Given the description of an element on the screen output the (x, y) to click on. 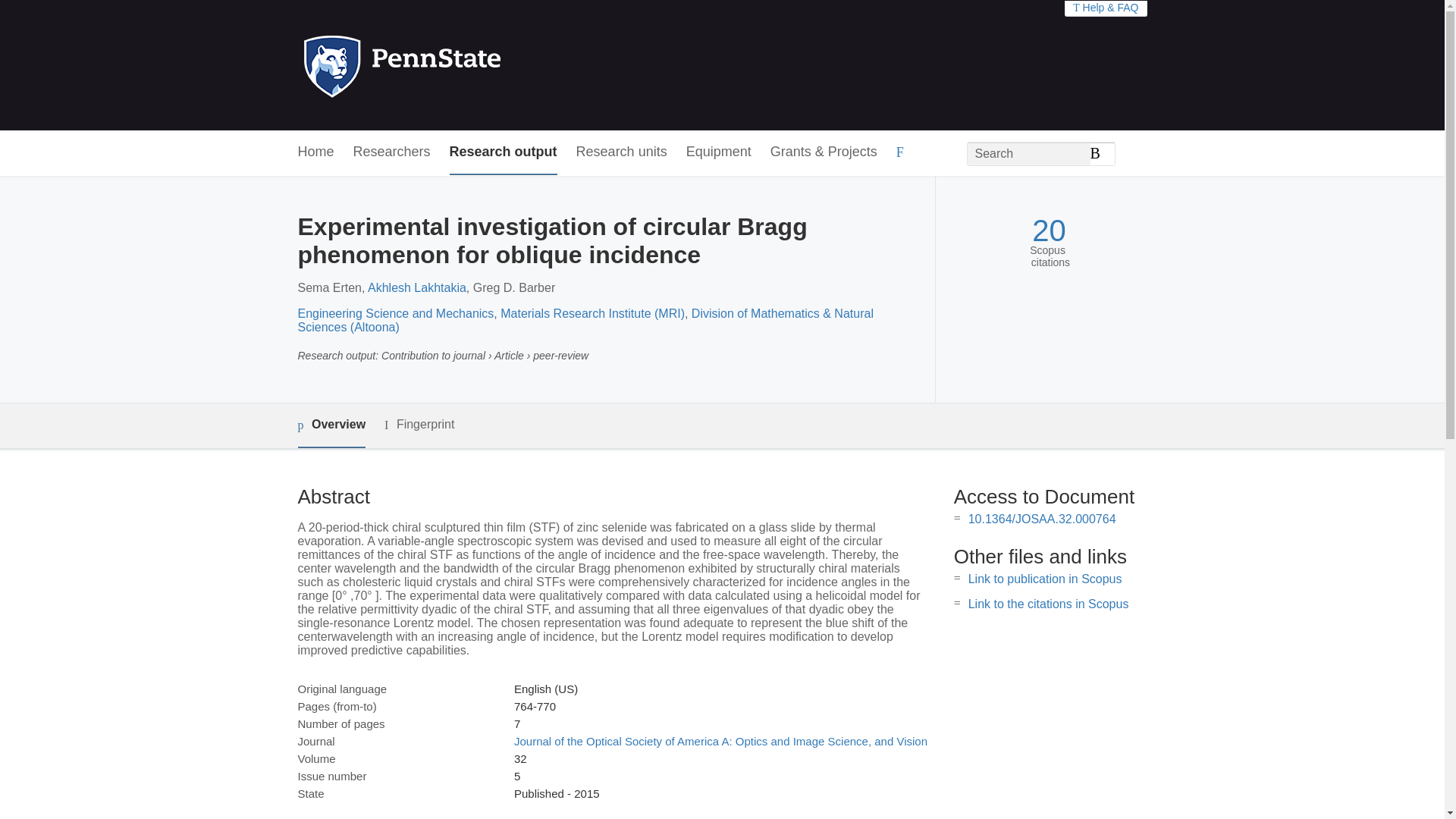
Home (315, 152)
Researchers (391, 152)
Engineering Science and Mechanics (395, 313)
Fingerprint (419, 424)
20 (1048, 230)
Akhlesh Lakhtakia (416, 287)
Link to the citations in Scopus (1048, 603)
Overview (331, 425)
Equipment (718, 152)
Penn State Home (467, 65)
Research output (503, 152)
Research units (621, 152)
Link to publication in Scopus (1045, 578)
